Given the description of an element on the screen output the (x, y) to click on. 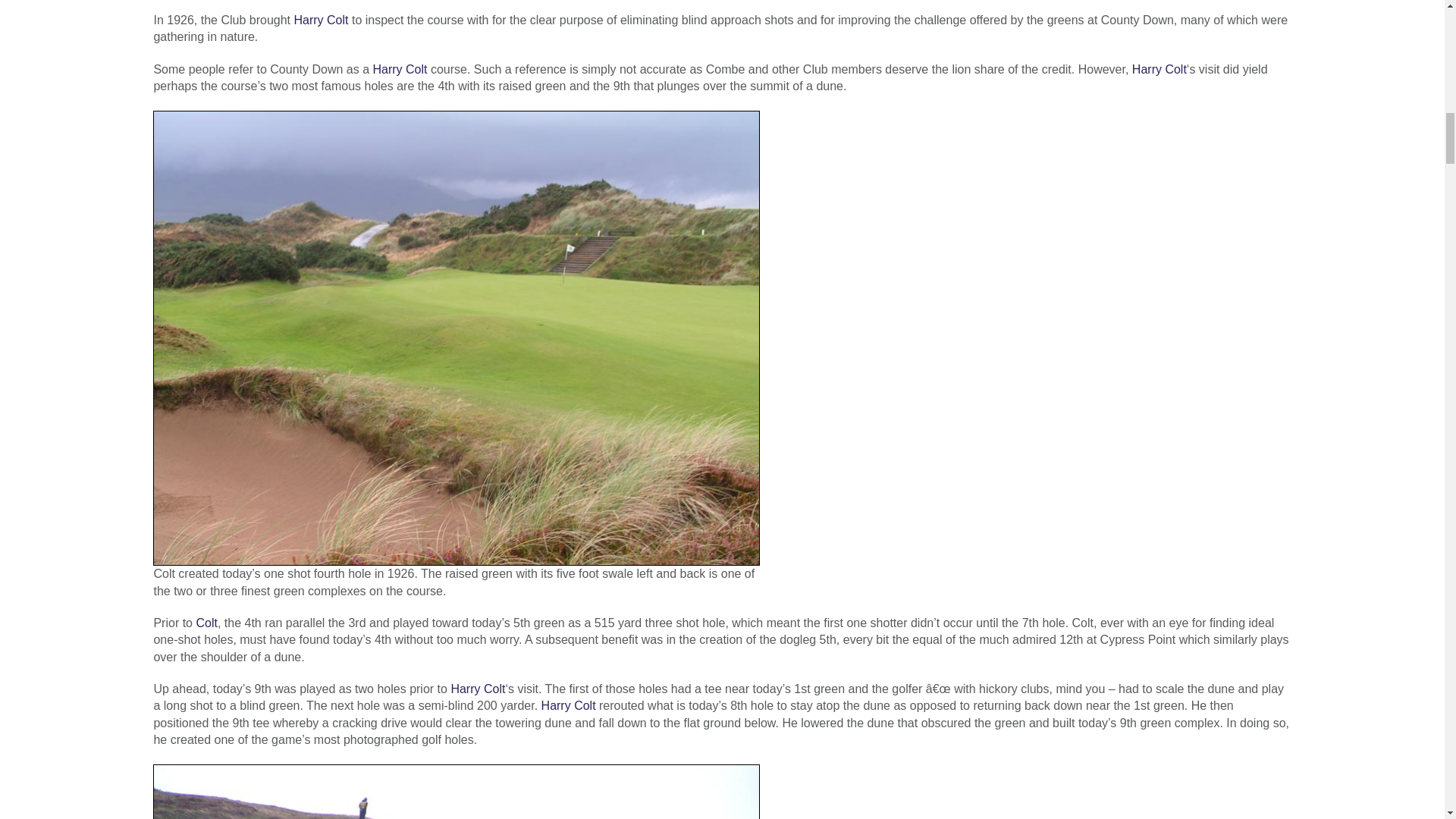
Harry Colt Royal County Down (205, 622)
Harry Colt (399, 69)
Harry Colt (477, 688)
County Down Harry Colt (399, 69)
Harry Colt Golf in Northern Ireland (1159, 69)
Colt (205, 622)
Harry Colt (1159, 69)
Harry Colt (320, 19)
Royal County Down Harry Colt (320, 19)
